Given the description of an element on the screen output the (x, y) to click on. 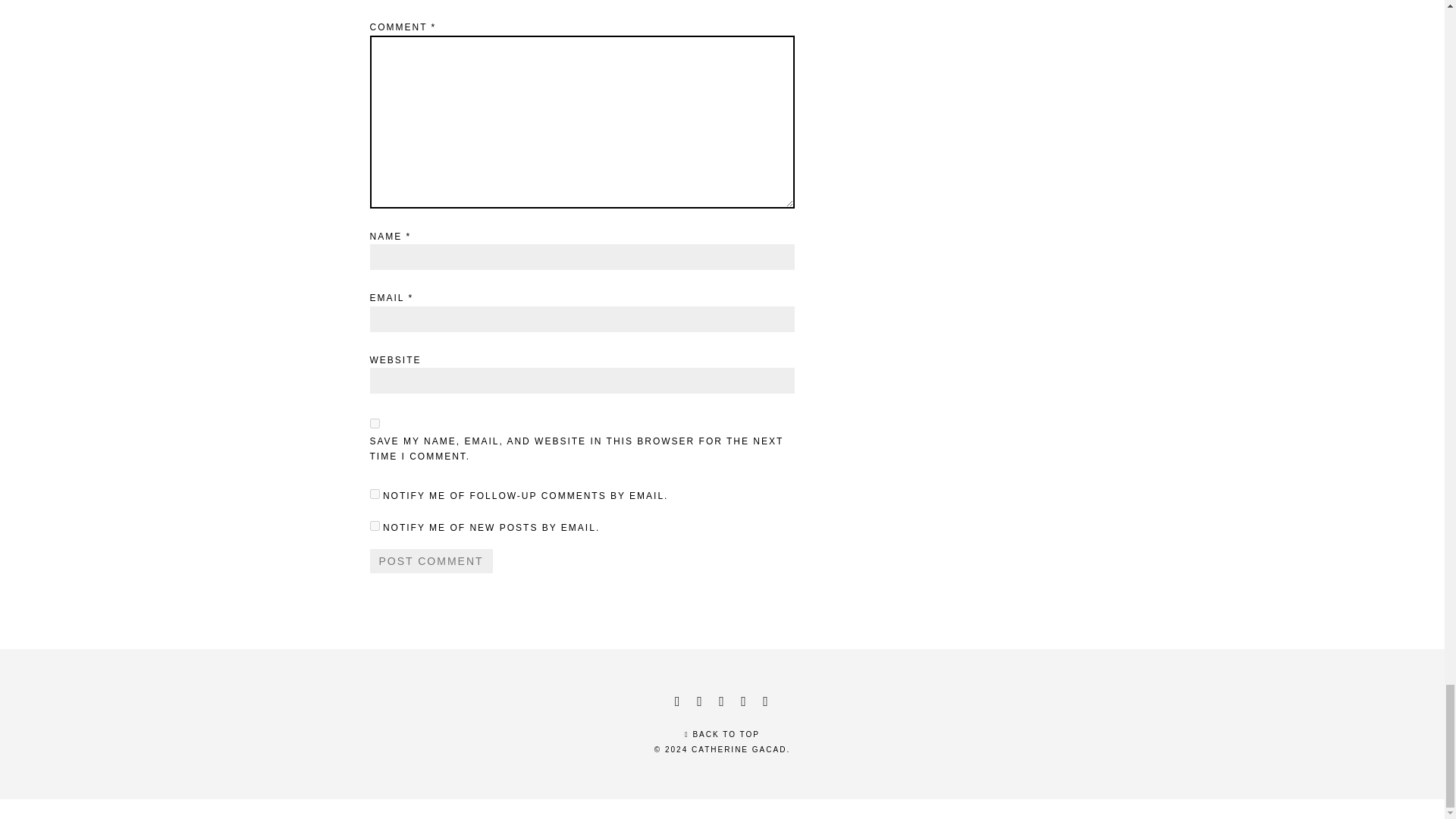
yes (374, 423)
Post Comment (431, 560)
subscribe (374, 493)
subscribe (374, 525)
